Given the description of an element on the screen output the (x, y) to click on. 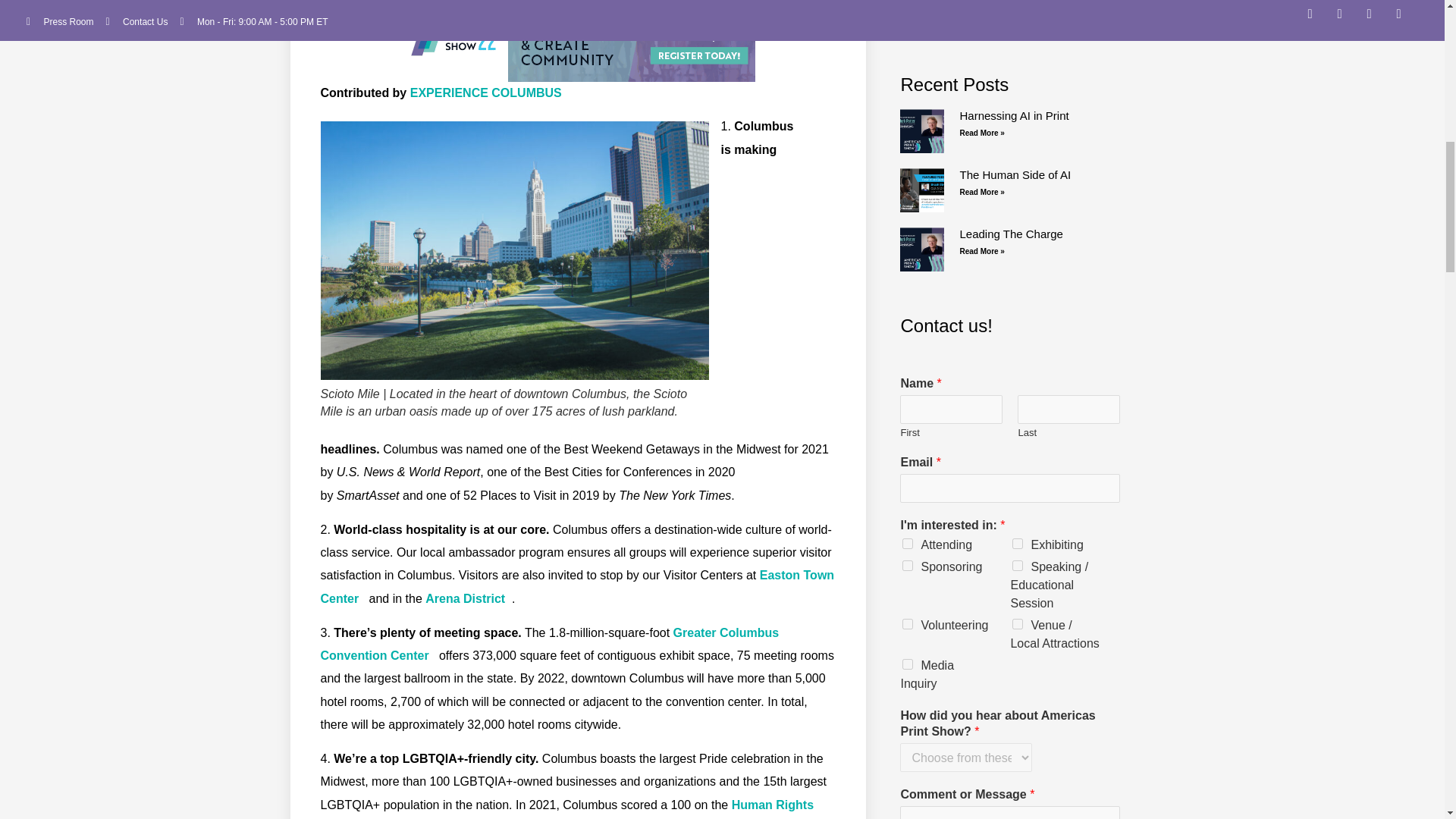
Sponsoring (907, 565)
EXPERIENCE COLUMBUS (486, 92)
Volunteering (907, 624)
Easton Town Center   (577, 586)
Attending (907, 543)
Media Inquiry (907, 664)
Exhibiting (1017, 543)
